Given the description of an element on the screen output the (x, y) to click on. 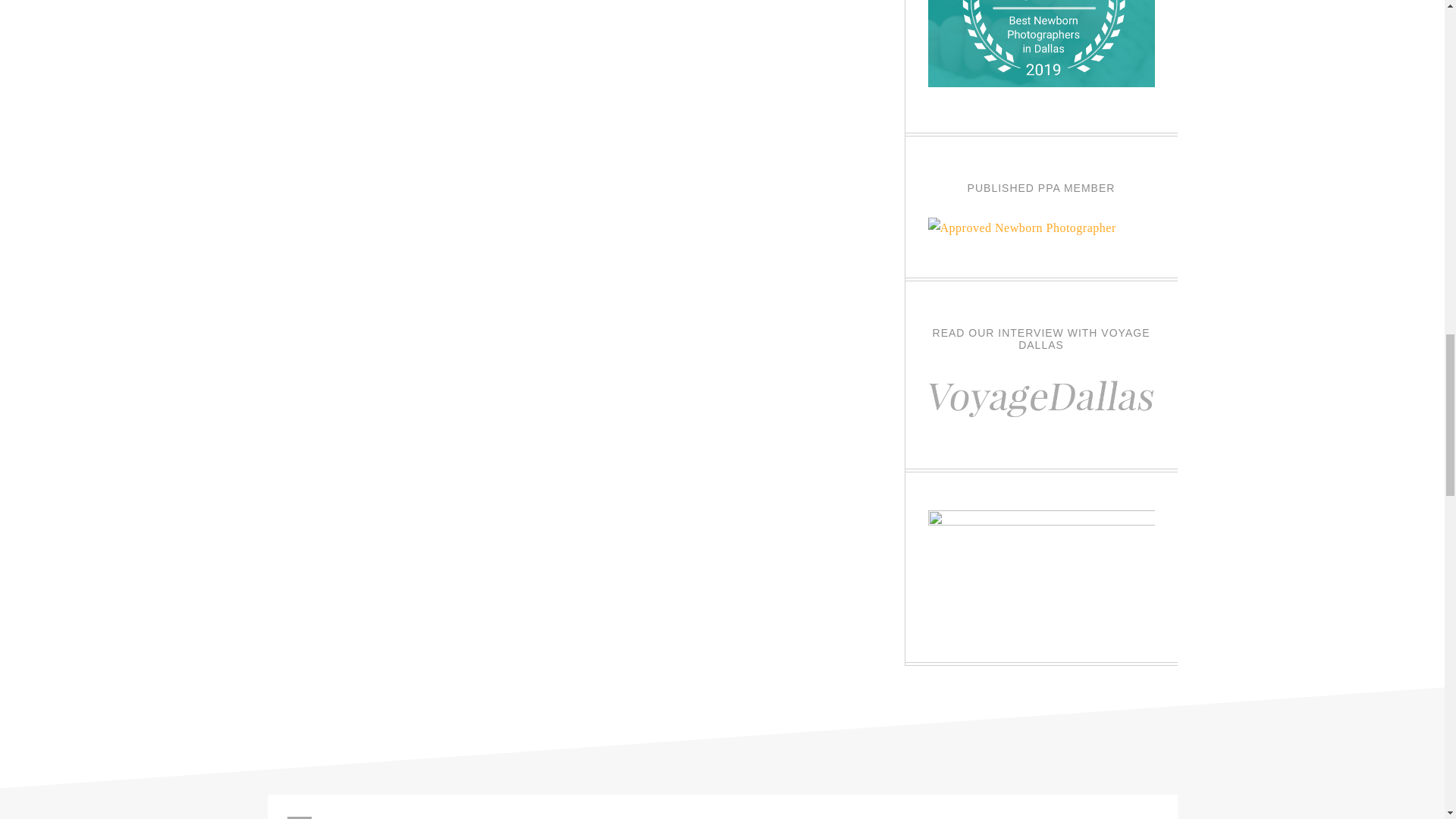
Best Newborn Photographer in Dallas 2016-2019 (1041, 82)
Read our Interview with Voyage Dallas (1041, 418)
